Given the description of an element on the screen output the (x, y) to click on. 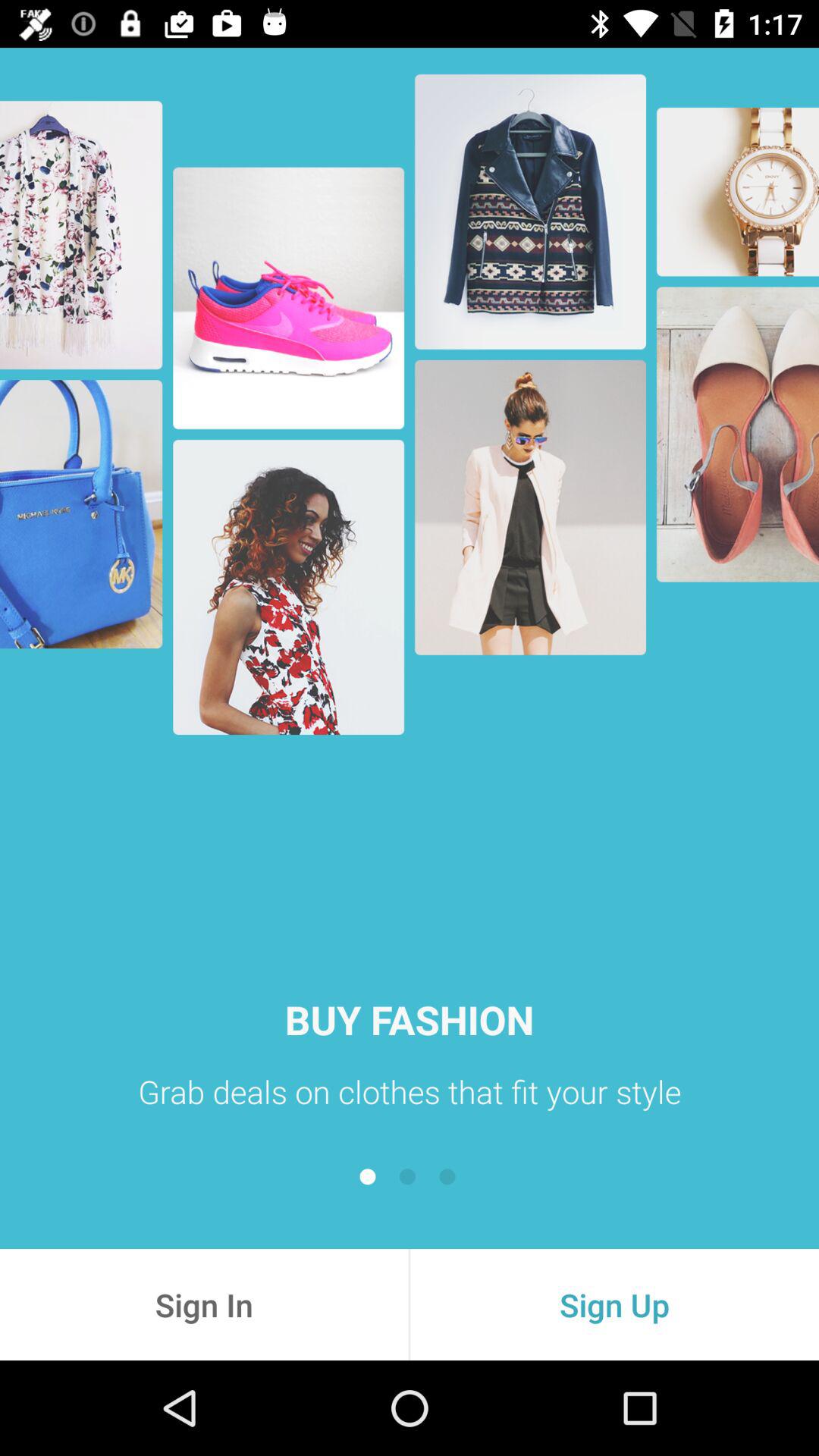
turn on the item to the left of the sign up item (204, 1304)
